Given the description of an element on the screen output the (x, y) to click on. 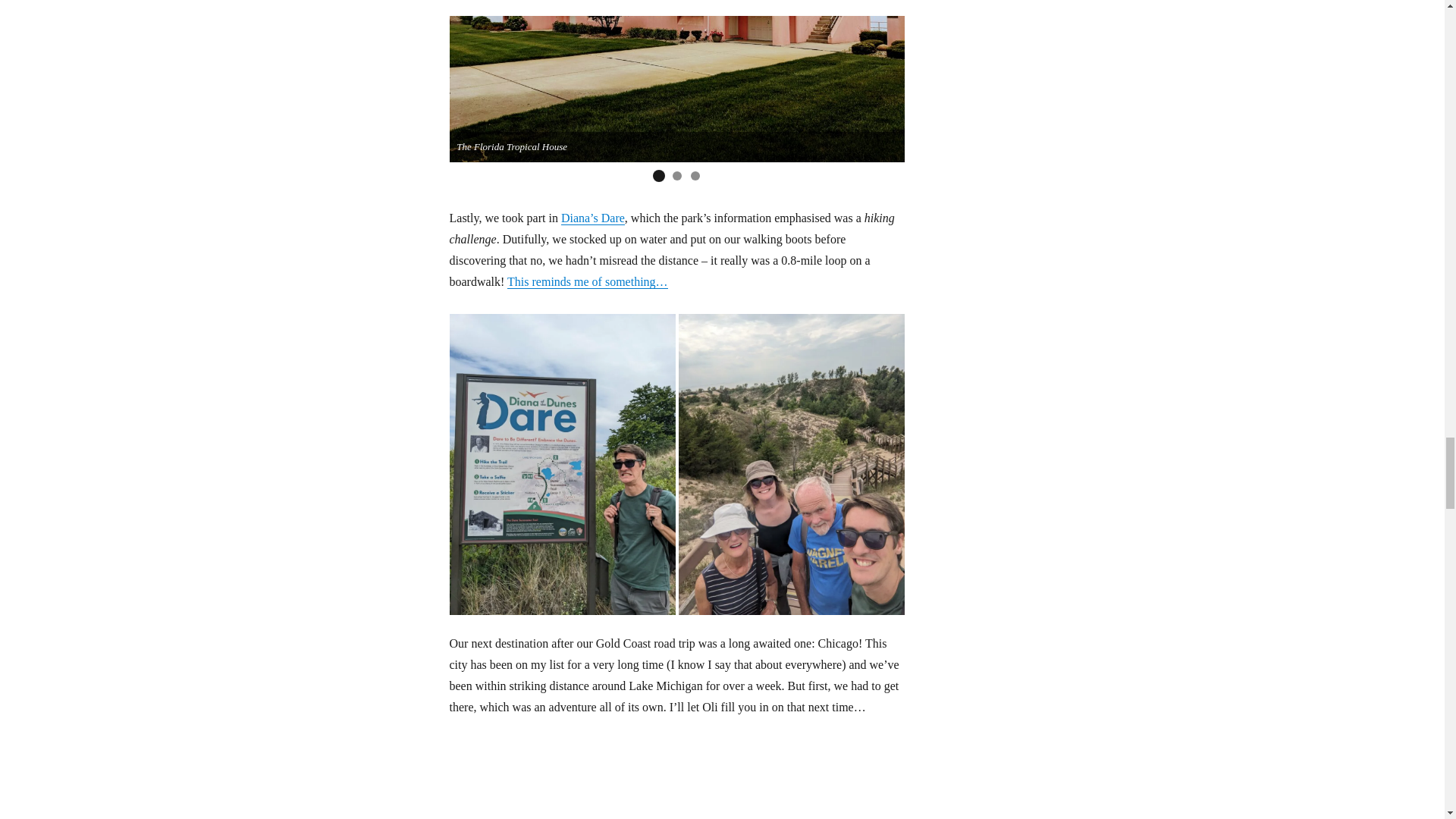
Crossing Lake Michigan on a steam ship (581, 811)
